Given the description of an element on the screen output the (x, y) to click on. 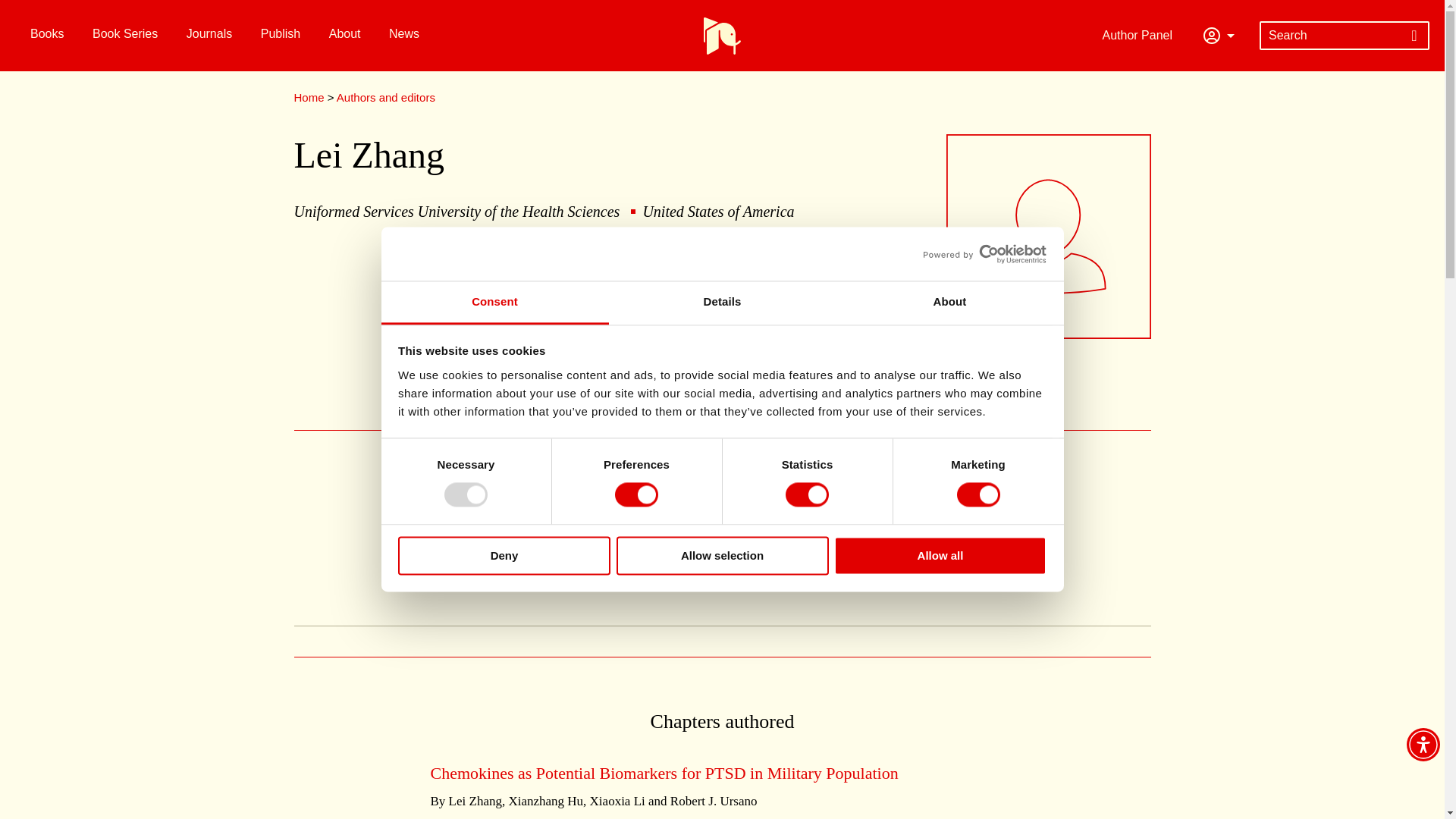
Consent (494, 302)
Accessibility Menu (1422, 744)
About (948, 302)
Details (721, 302)
